Given the description of an element on the screen output the (x, y) to click on. 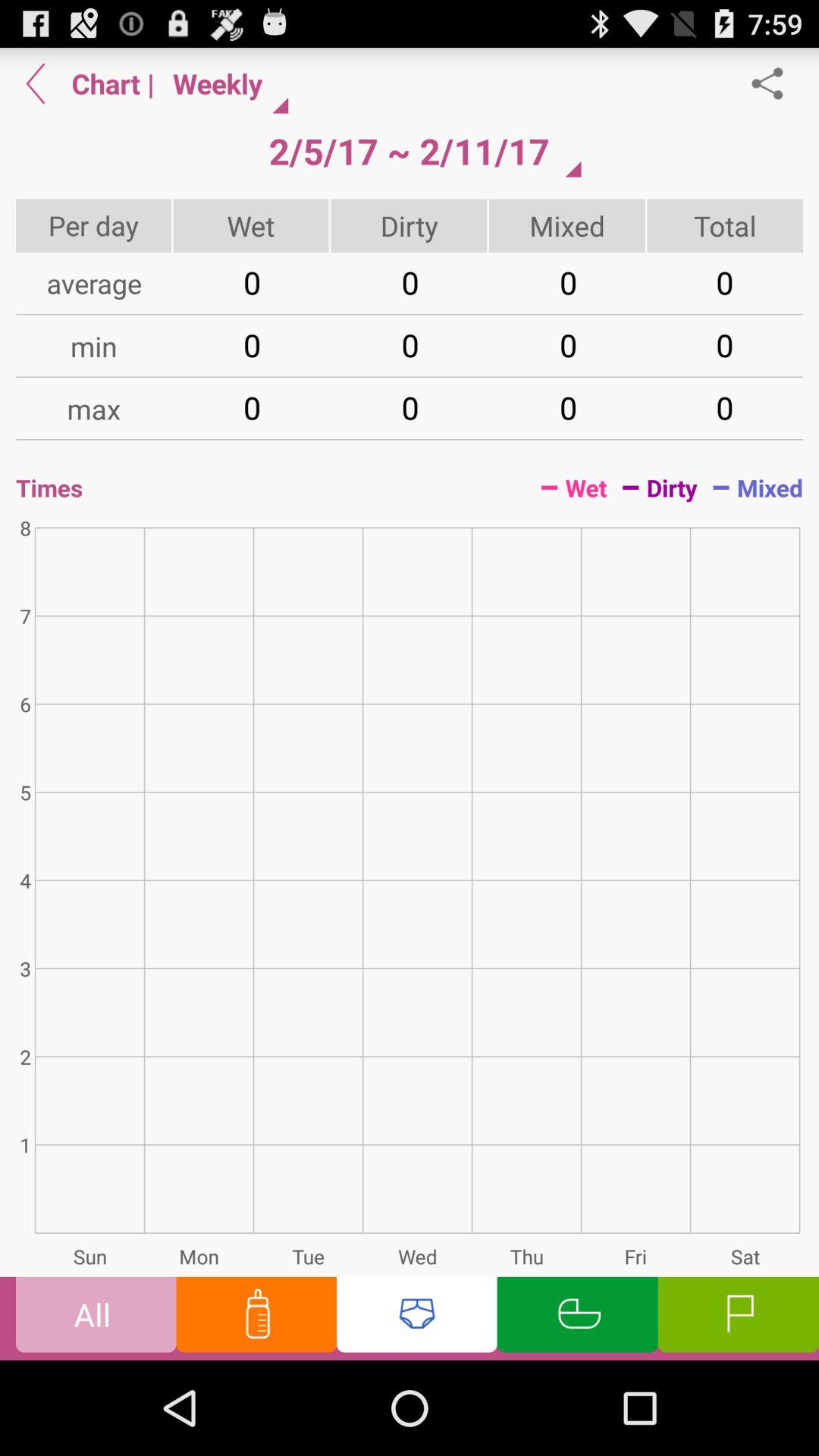
click to share option (775, 83)
